Given the description of an element on the screen output the (x, y) to click on. 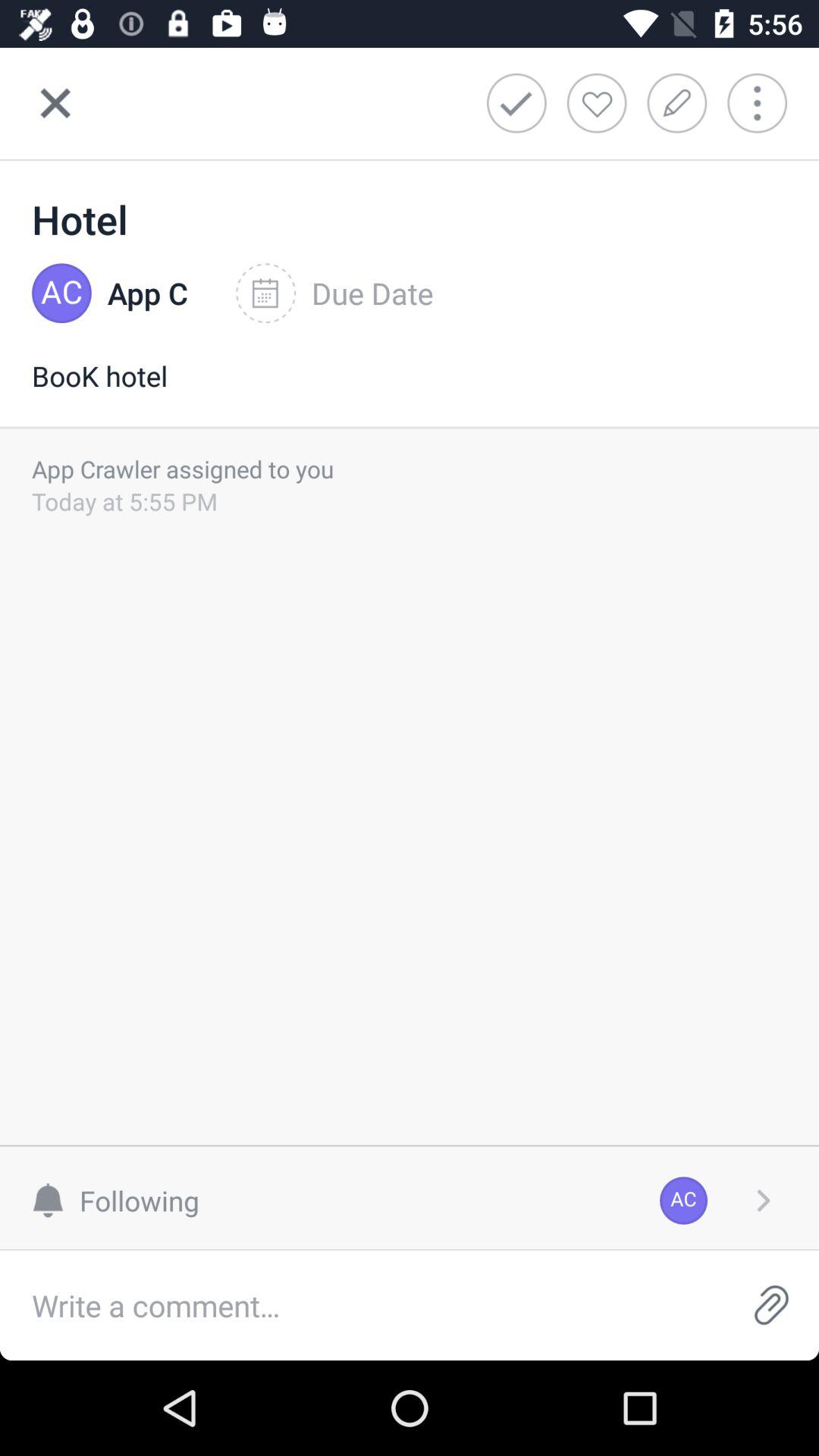
tap the icon next to due date (147, 293)
